Given the description of an element on the screen output the (x, y) to click on. 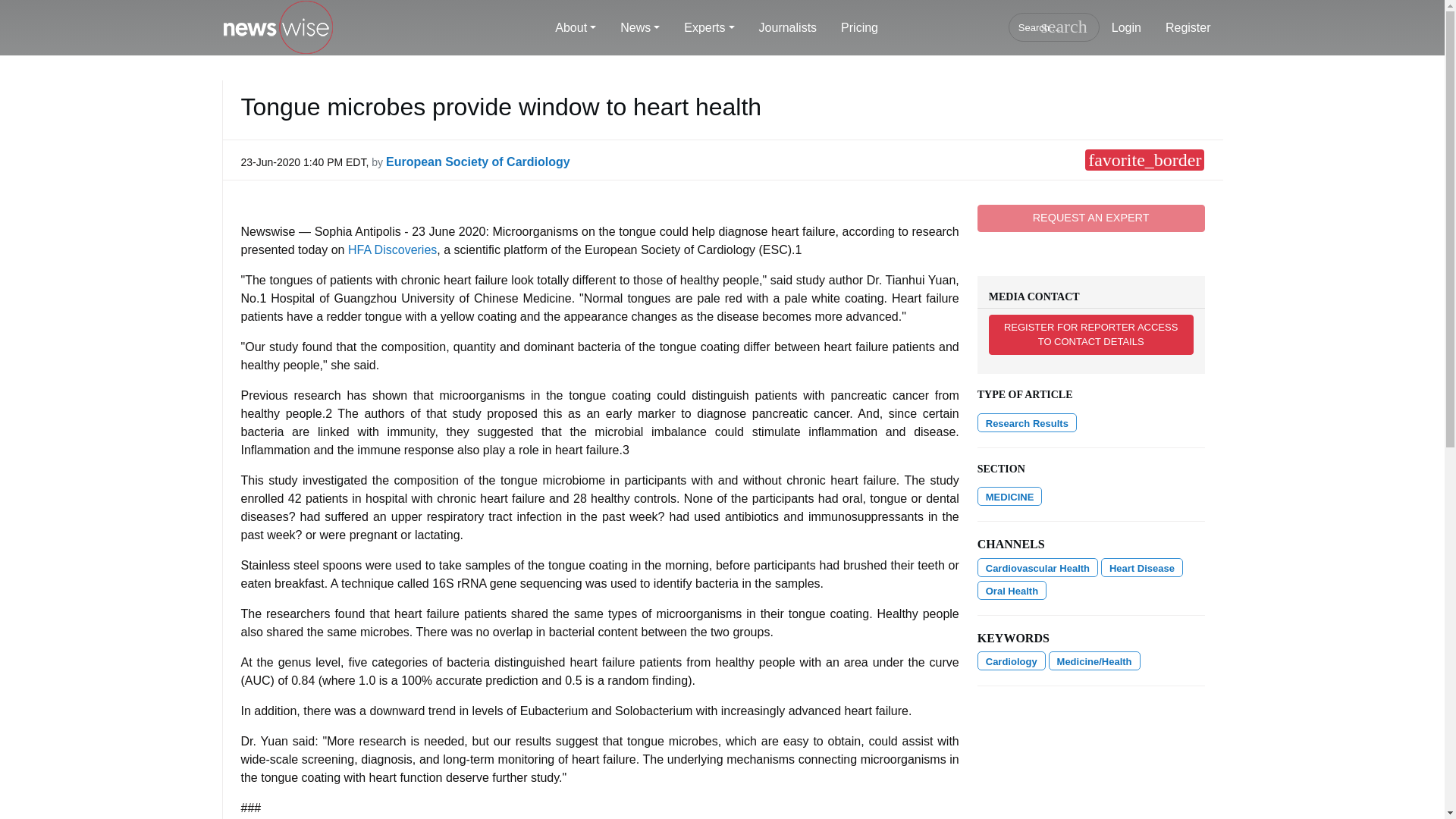
About (575, 27)
Newswise logo (277, 28)
News (639, 27)
Show all articles in this channel (1009, 496)
Show all articles in this channel (1141, 567)
Add to Favorites (1144, 159)
Show all articles in this channel (1011, 589)
Show all articles in this channel (1036, 567)
Research Results (1026, 422)
